Given the description of an element on the screen output the (x, y) to click on. 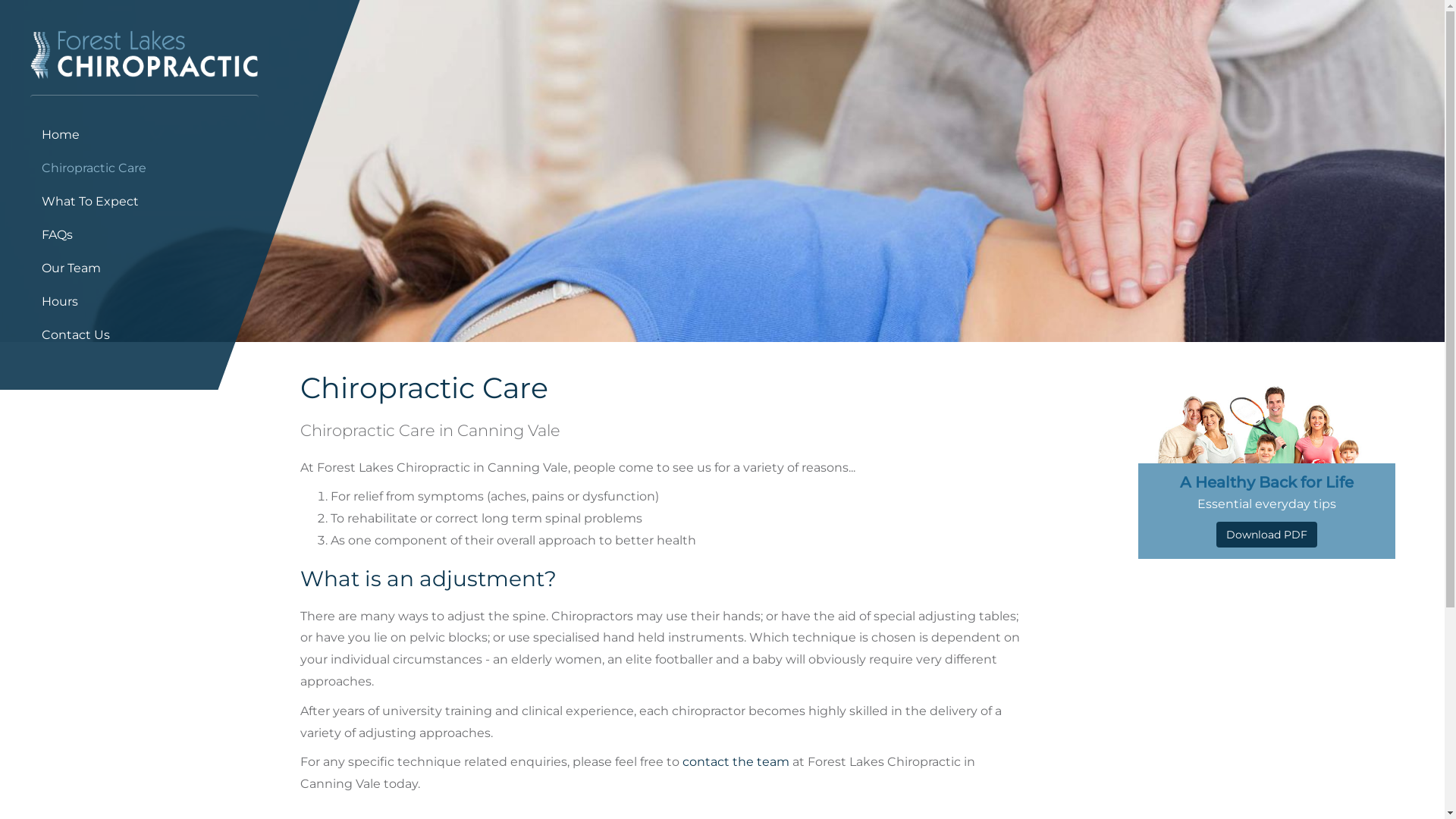
Chiropractic Care Element type: text (144, 168)
FAQs Element type: text (144, 234)
contact the team Element type: text (735, 761)
Download PDF Element type: text (1266, 534)
Our Team Element type: text (144, 268)
Home Element type: text (144, 134)
What To Expect Element type: text (144, 201)
Contact Us Element type: text (144, 334)
Hours Element type: text (144, 301)
